Given the description of an element on the screen output the (x, y) to click on. 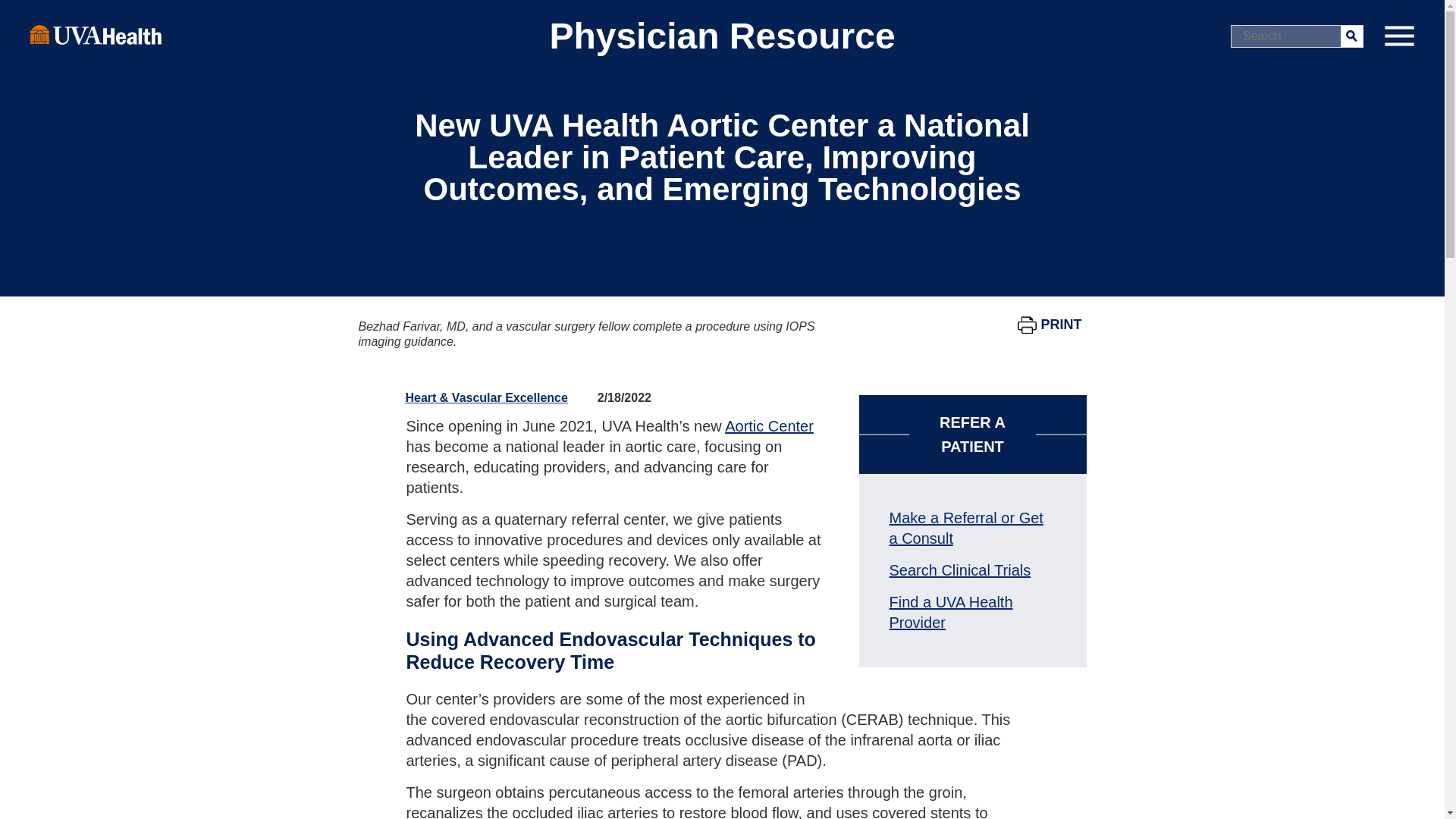
Find a UVA Health Provider (949, 611)
Submit the Search Form (1351, 35)
Make a Referral or Get a Consult (965, 528)
Search Toggle (15, 11)
menu toggle (1398, 36)
Aortic Center (769, 425)
PRINT (1049, 324)
Physician Resource (722, 35)
Search Submit (1351, 35)
Search Clinical Trials (959, 569)
logo of UVA Health (95, 34)
